Given the description of an element on the screen output the (x, y) to click on. 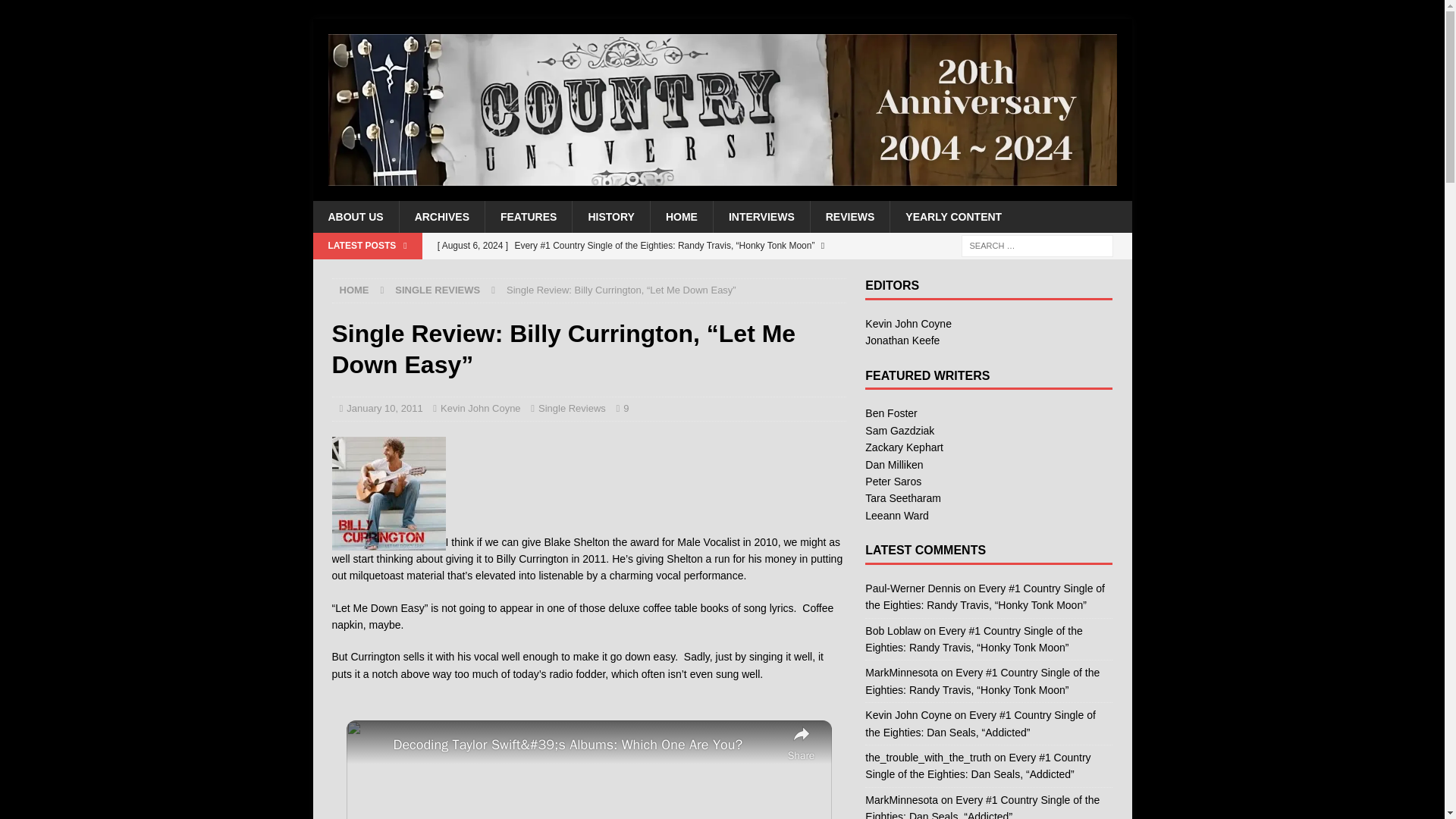
FEATURES (528, 216)
ARCHIVES (441, 216)
Billy Currington Don't Let Me Down Easy (388, 493)
HISTORY (610, 216)
HOME (681, 216)
INTERVIEWS (761, 216)
ABOUT US (355, 216)
REVIEWS (849, 216)
